Given the description of an element on the screen output the (x, y) to click on. 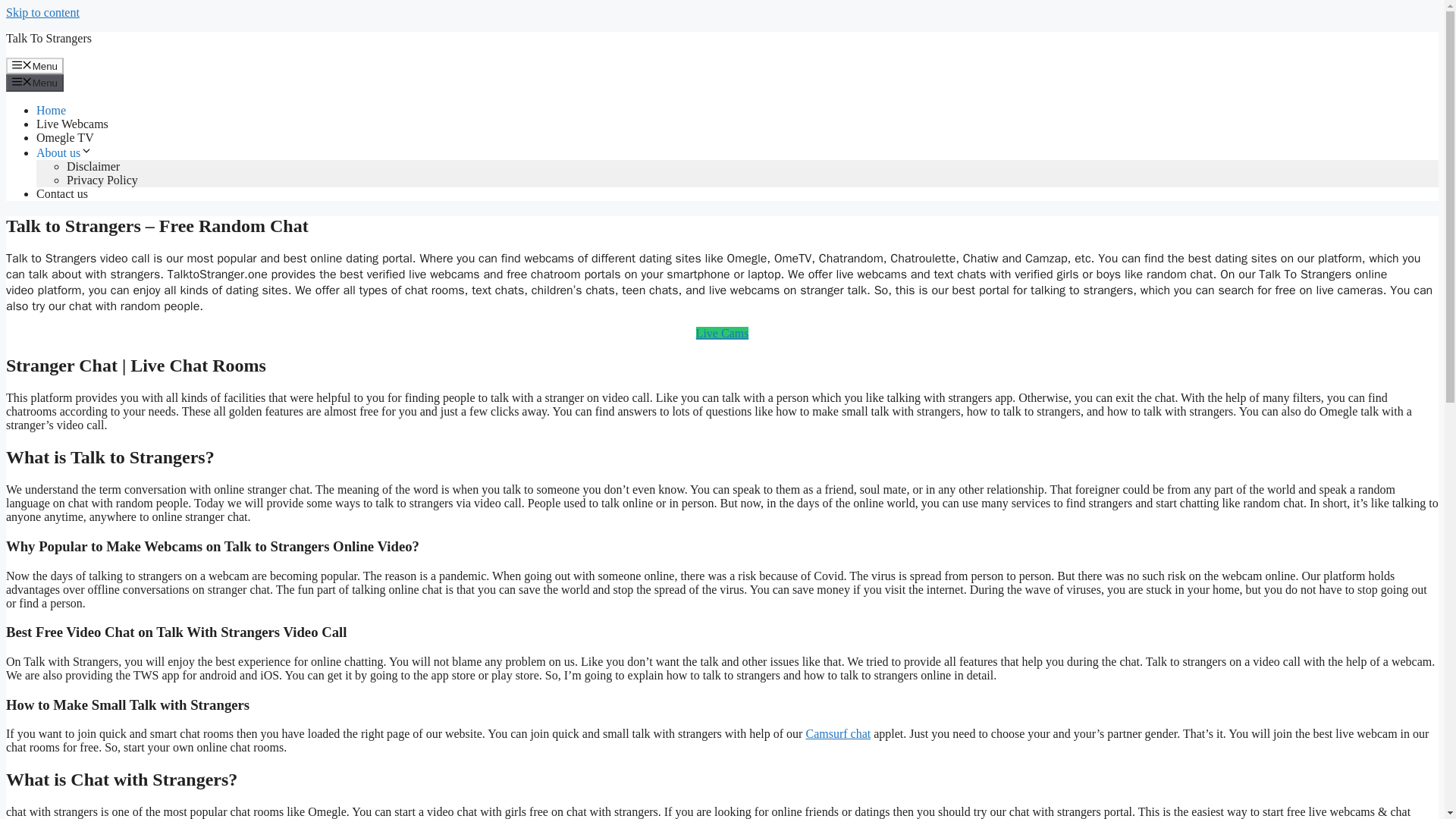
Contact us (61, 193)
Omegle TV (65, 137)
Disclaimer (92, 165)
Home (50, 110)
Skip to content (42, 11)
Talk To Strangers (48, 38)
Menu (34, 82)
Privacy Policy (102, 179)
Camsurf chat (837, 733)
About us (64, 152)
Live Cams (722, 332)
Menu (34, 65)
Chatiw (980, 258)
Skip to content (42, 11)
Live Webcams (71, 123)
